Given the description of an element on the screen output the (x, y) to click on. 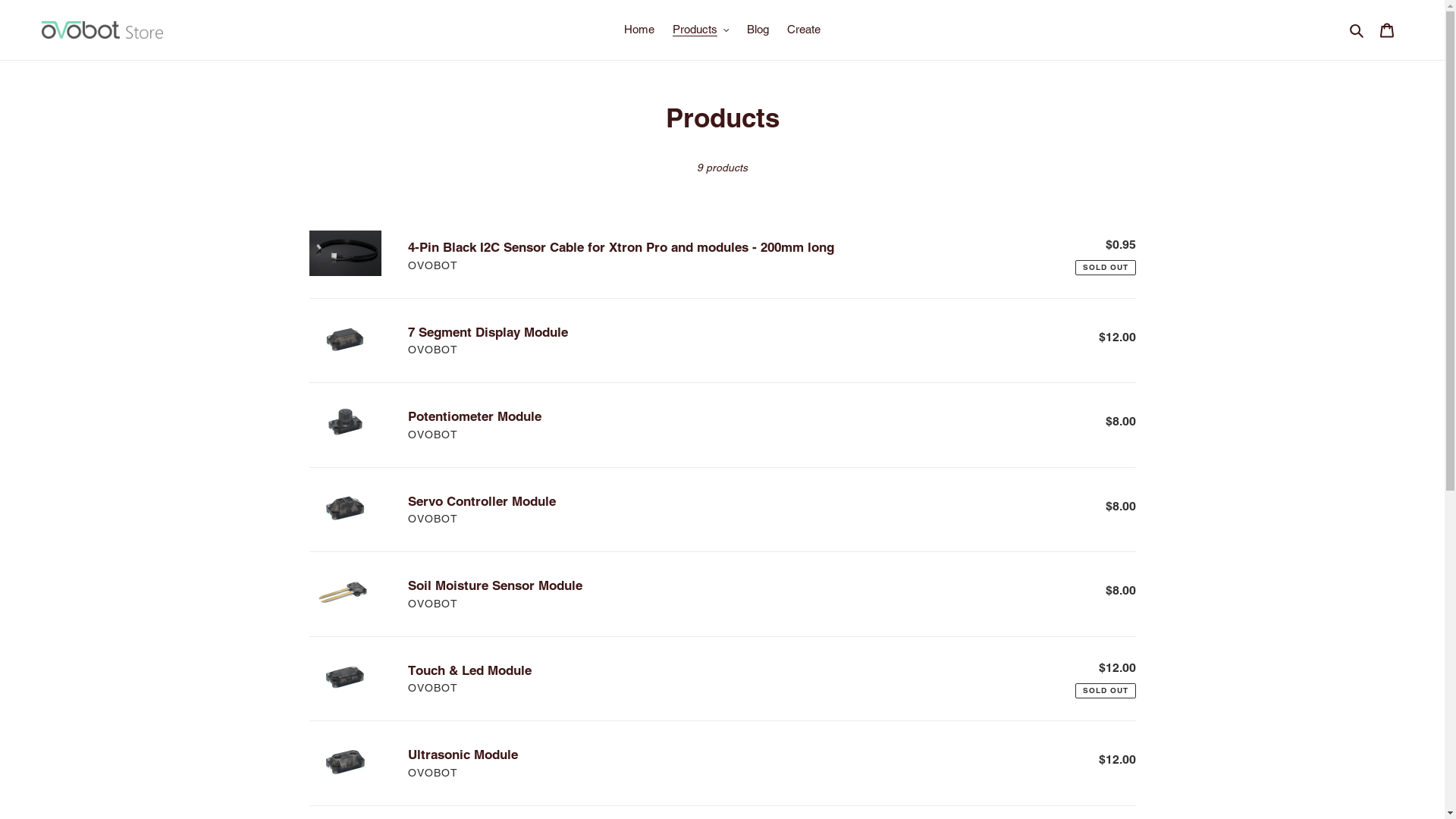
Search Element type: text (1357, 29)
Servo Controller Module Element type: text (722, 508)
Create Element type: text (803, 29)
Home Element type: text (639, 29)
Cart Element type: text (1386, 29)
Potentiometer Module Element type: text (722, 424)
Ultrasonic Module Element type: text (722, 762)
Soil Moisture Sensor Module Element type: text (722, 593)
Blog Element type: text (757, 29)
7 Segment Display Module Element type: text (722, 340)
Products Element type: text (701, 29)
Touch & Led Module Element type: text (722, 678)
